Given the description of an element on the screen output the (x, y) to click on. 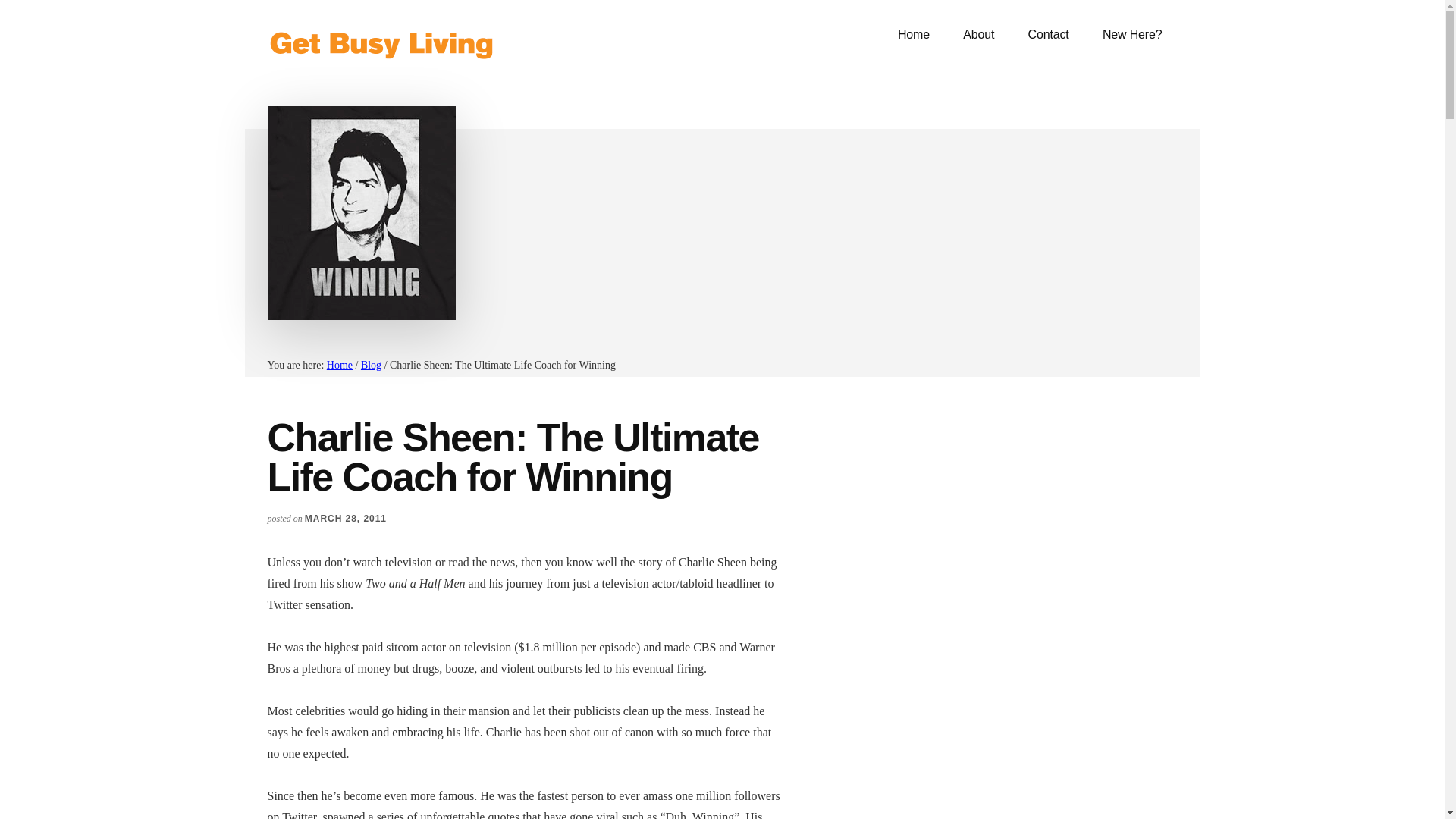
Home (339, 365)
About (978, 34)
Get Busy Living (380, 45)
Contact (1048, 34)
Blog (371, 365)
Home (913, 34)
New Here? (1132, 34)
